Given the description of an element on the screen output the (x, y) to click on. 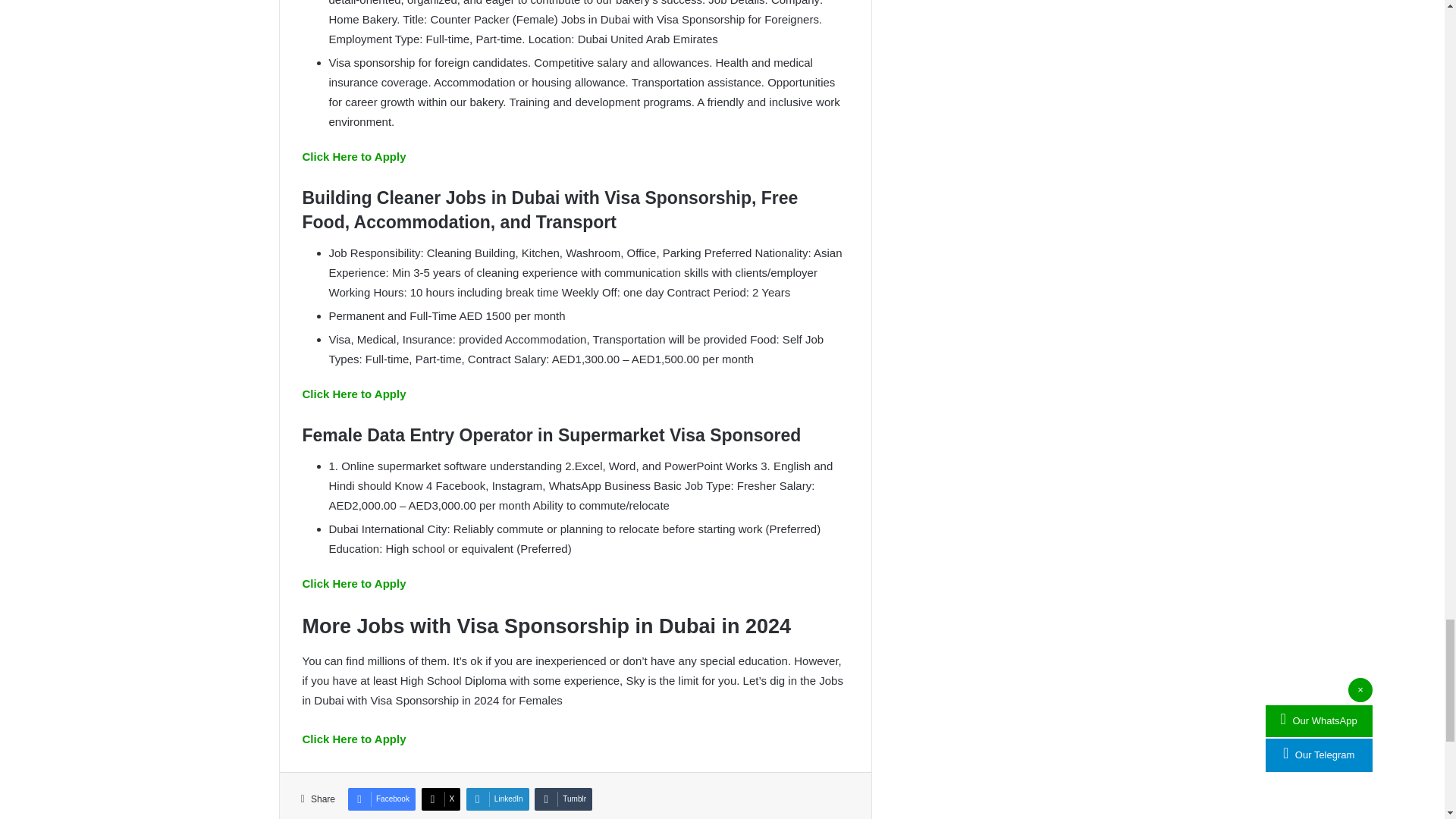
LinkedIn (497, 798)
X (441, 798)
Click Here to Apply (353, 155)
Facebook (380, 798)
